Given the description of an element on the screen output the (x, y) to click on. 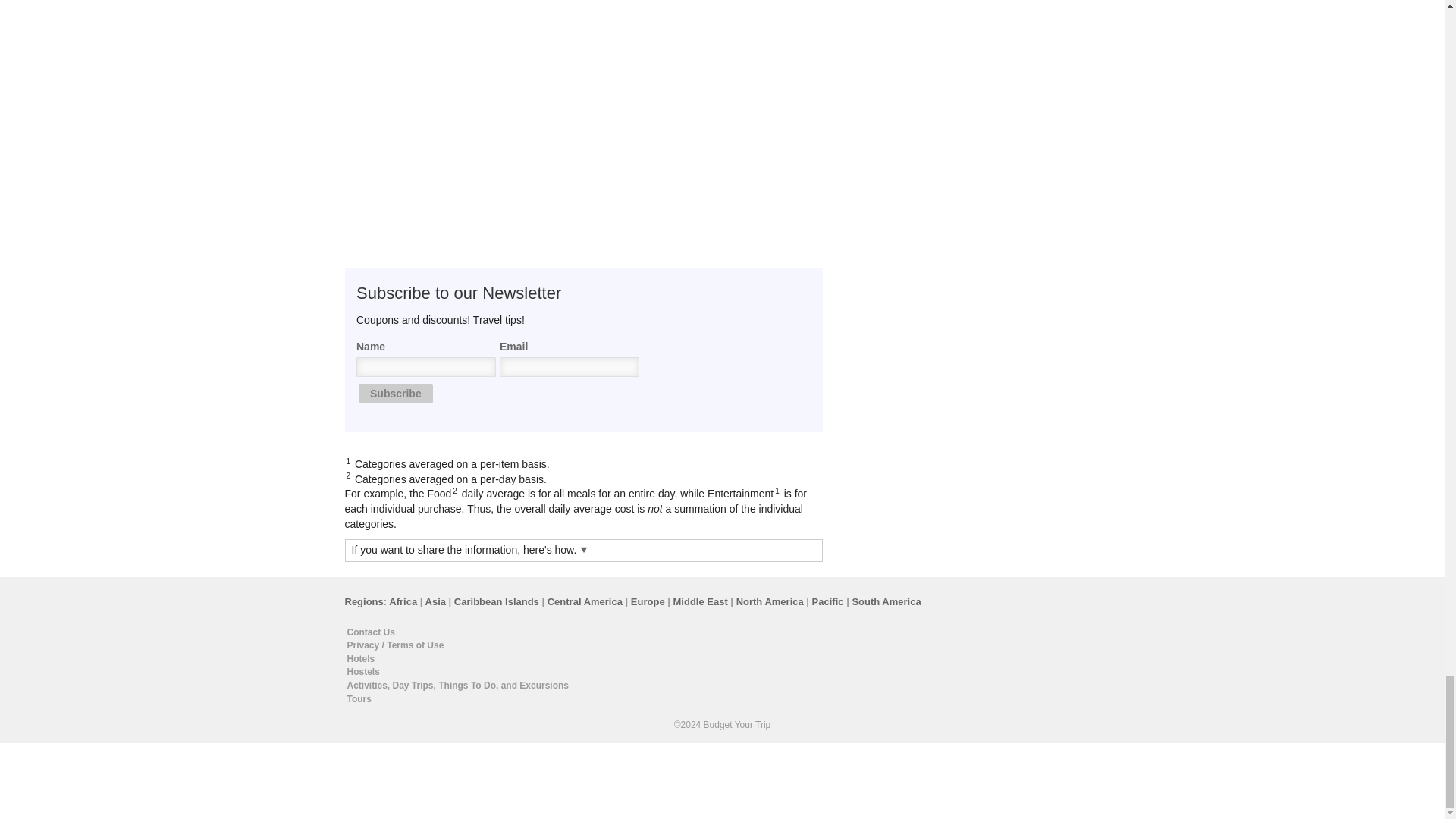
Is Uruguay Expensive? (583, 34)
How much does a trip to Uruguay cost? (419, 34)
Is Punta del Este Expensive? (745, 34)
Is Punta del Este Expensive? (745, 34)
How much does a trip to Uruguay cost? (419, 34)
Is Uruguay Expensive? (583, 34)
